Given the description of an element on the screen output the (x, y) to click on. 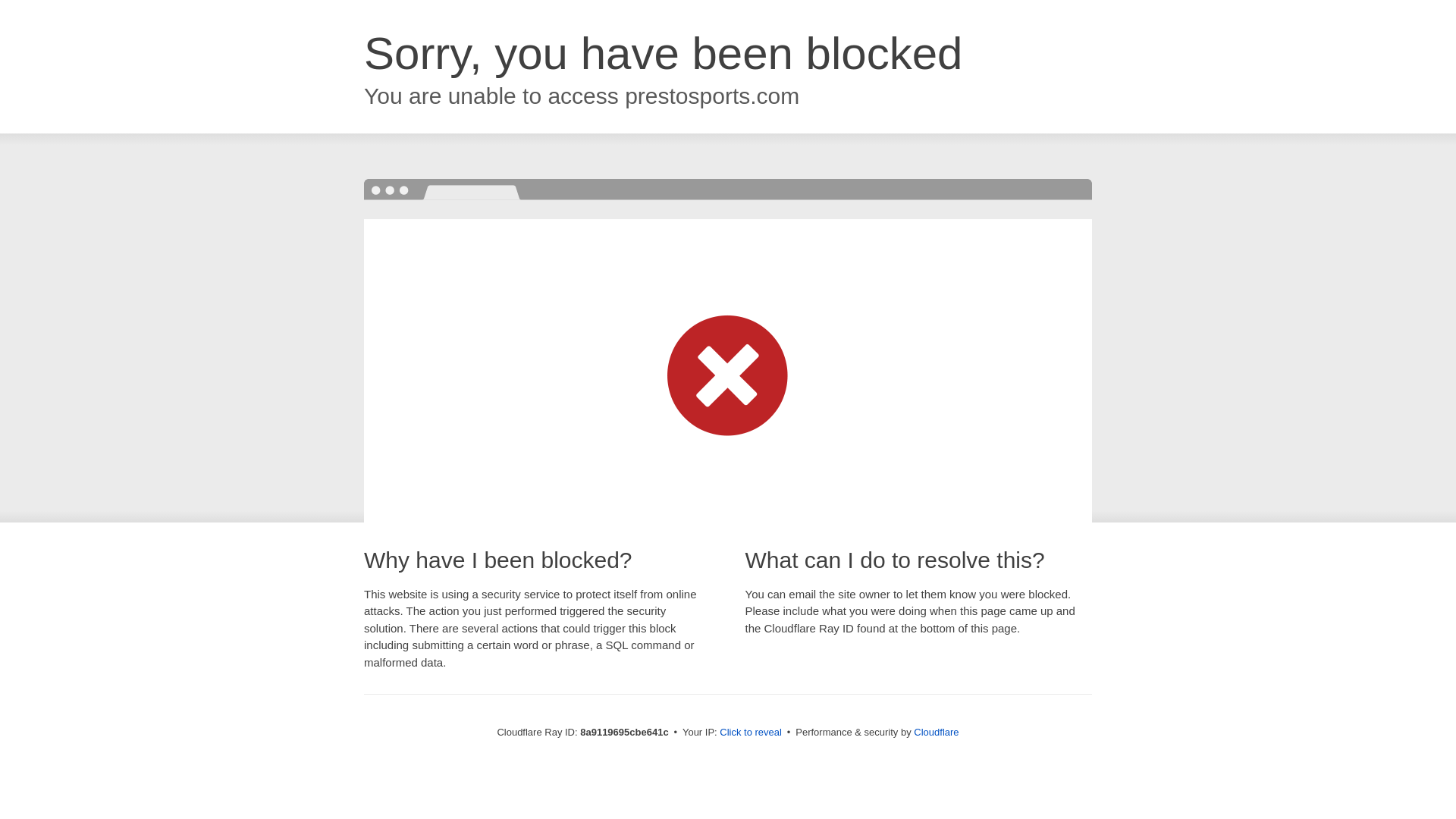
Cloudflare (936, 731)
Click to reveal (750, 732)
